Given the description of an element on the screen output the (x, y) to click on. 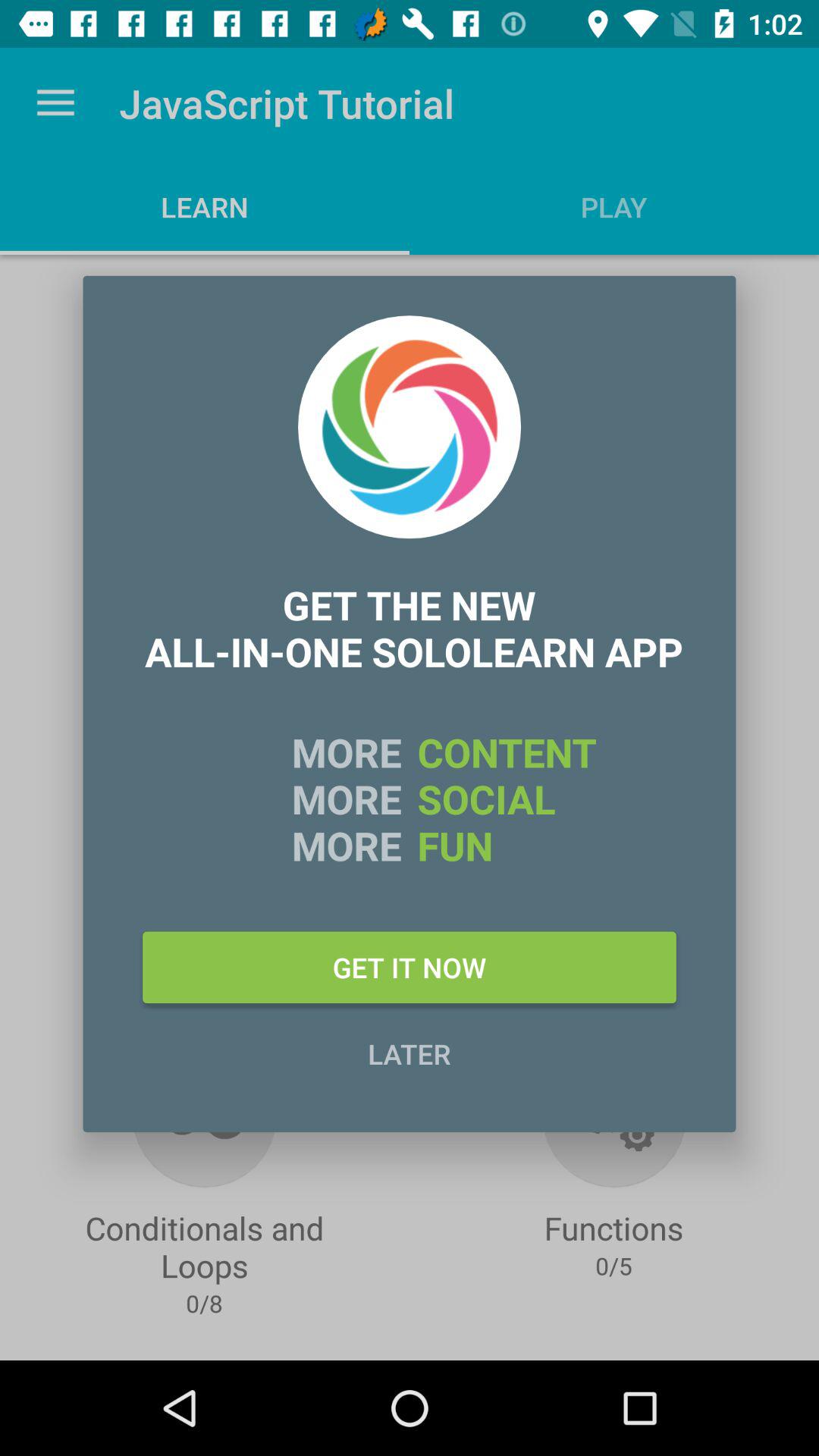
choose later at the bottom (409, 1053)
